Given the description of an element on the screen output the (x, y) to click on. 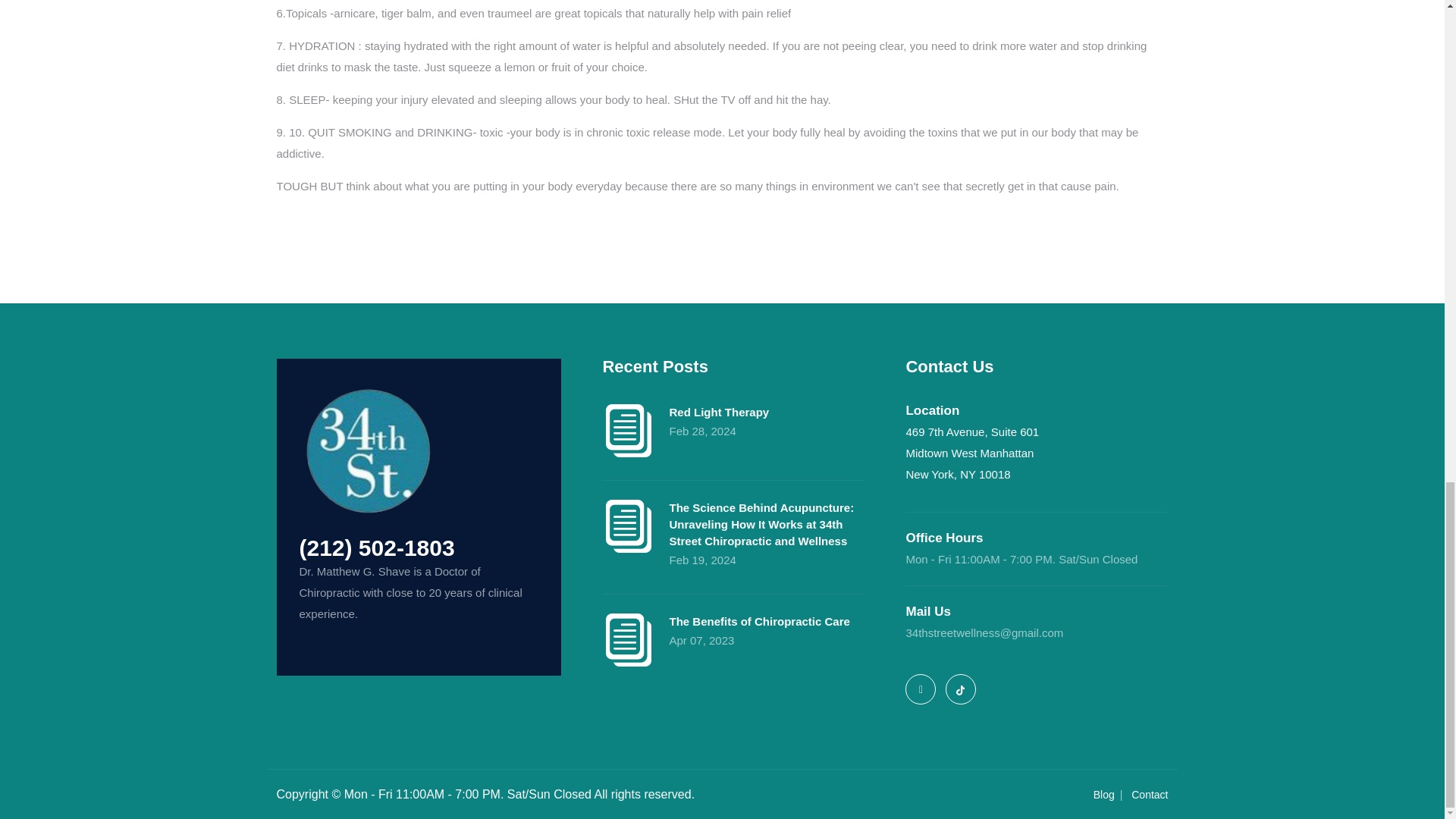
Blog (1104, 794)
Red Light Therapy (733, 412)
The Benefits of Chiropractic Care (733, 621)
Blog (1104, 794)
Contact (1149, 794)
Contact (1149, 794)
